Given the description of an element on the screen output the (x, y) to click on. 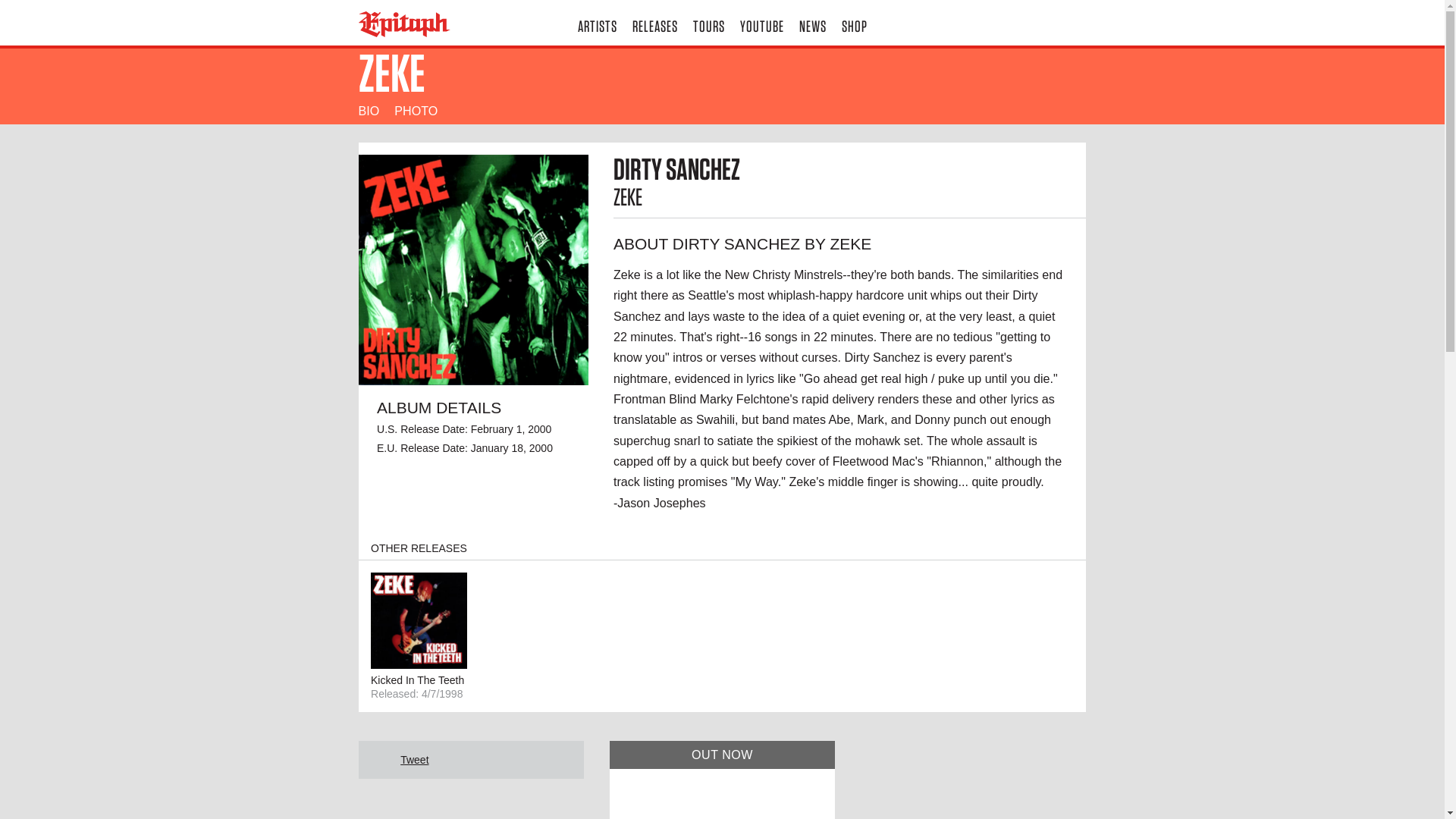
Epitaph (440, 24)
  YOUTUBE   (761, 22)
  ARTISTS   (597, 22)
  TOURS   (708, 22)
  RELEASES   (655, 22)
